Given the description of an element on the screen output the (x, y) to click on. 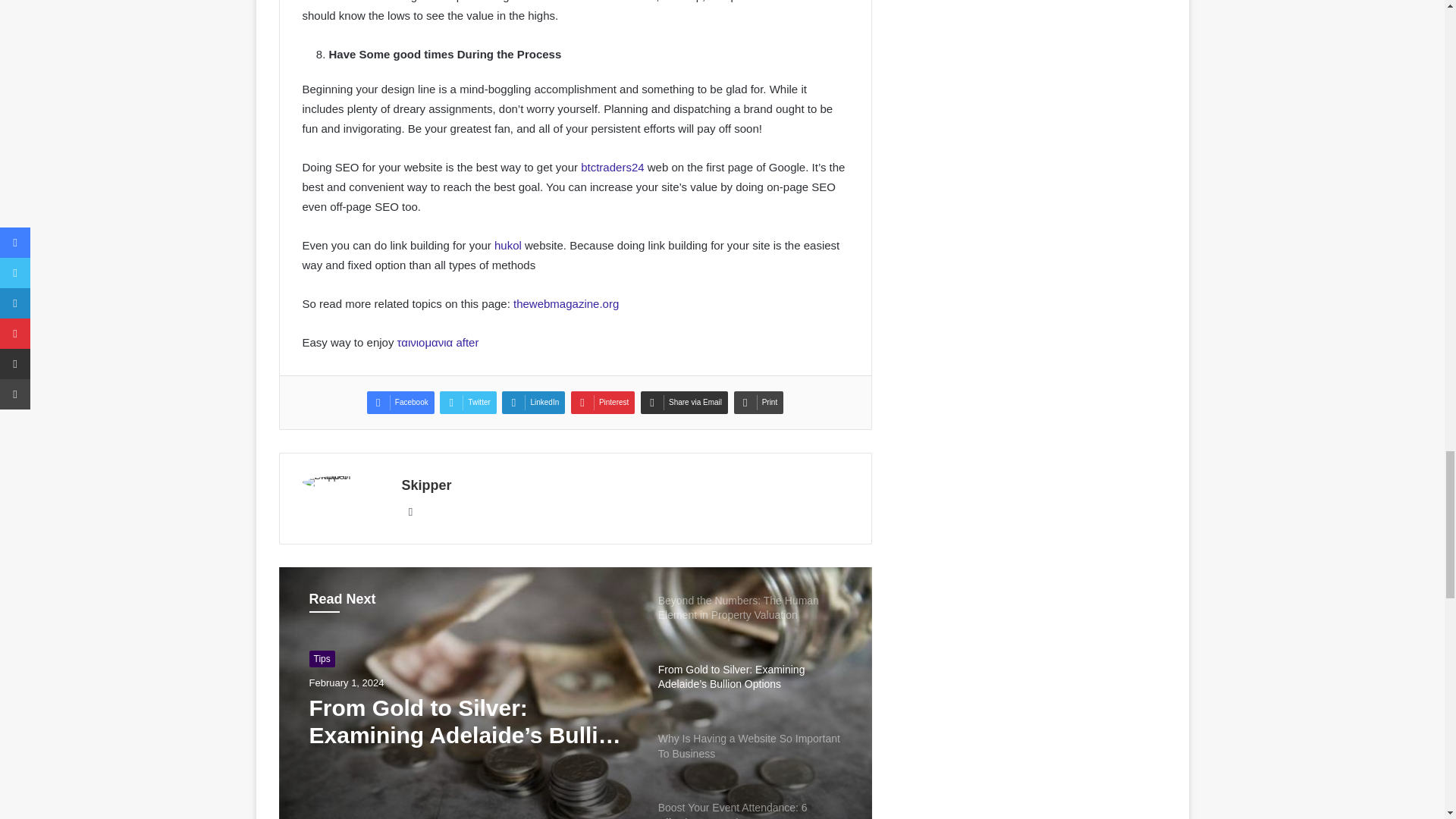
LinkedIn (533, 402)
Pinterest (602, 402)
Facebook (399, 402)
Website (410, 511)
Share via Email (684, 402)
Twitter (467, 402)
thewebmagazine.org (565, 303)
Print (758, 402)
LinkedIn (533, 402)
Facebook (399, 402)
btctraders24 (611, 166)
Skipper (426, 485)
Print (758, 402)
Twitter (467, 402)
Pinterest (602, 402)
